Given the description of an element on the screen output the (x, y) to click on. 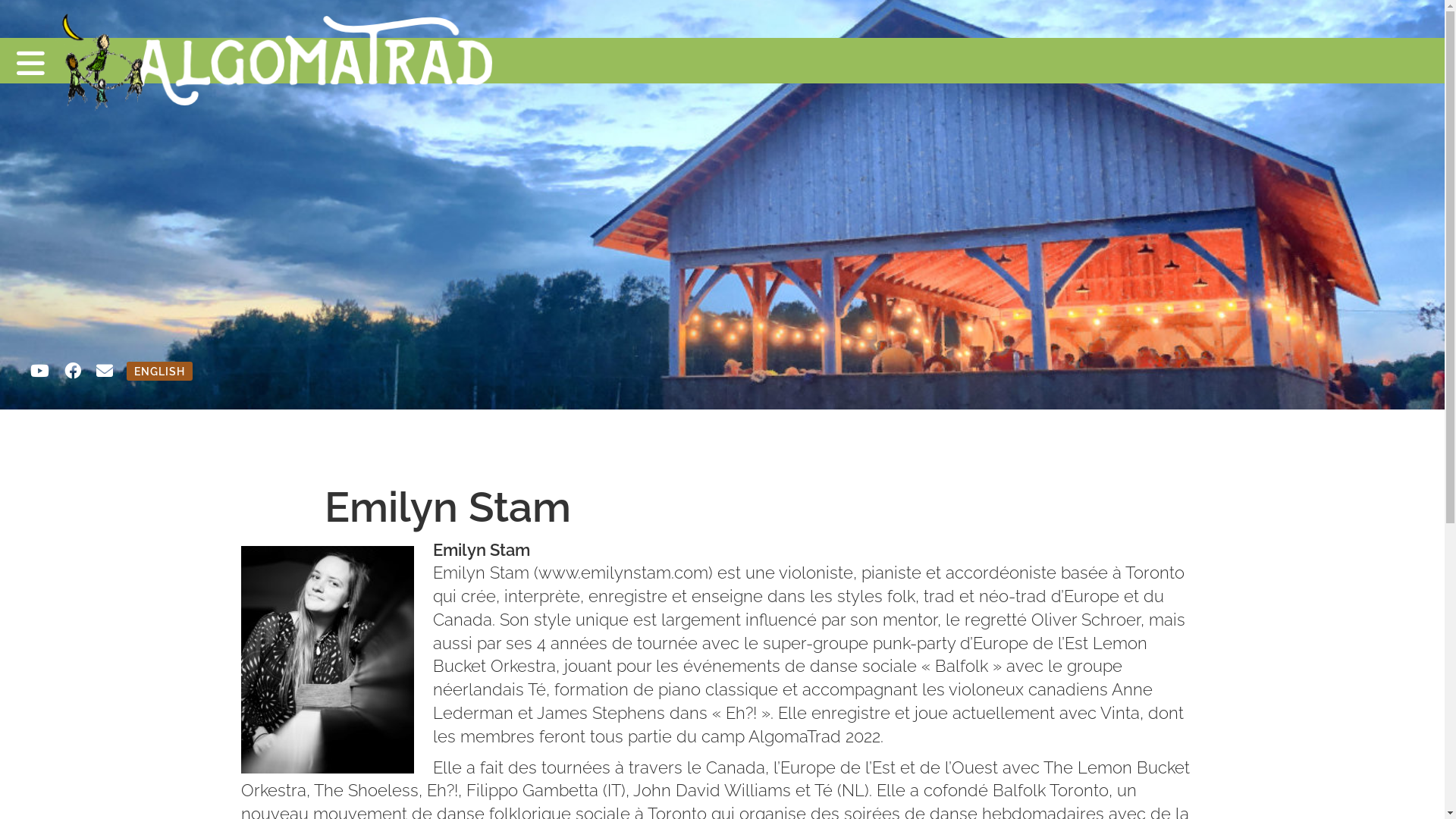
MENU Element type: hover (722, 60)
ENGLISH Element type: text (159, 370)
